Given the description of an element on the screen output the (x, y) to click on. 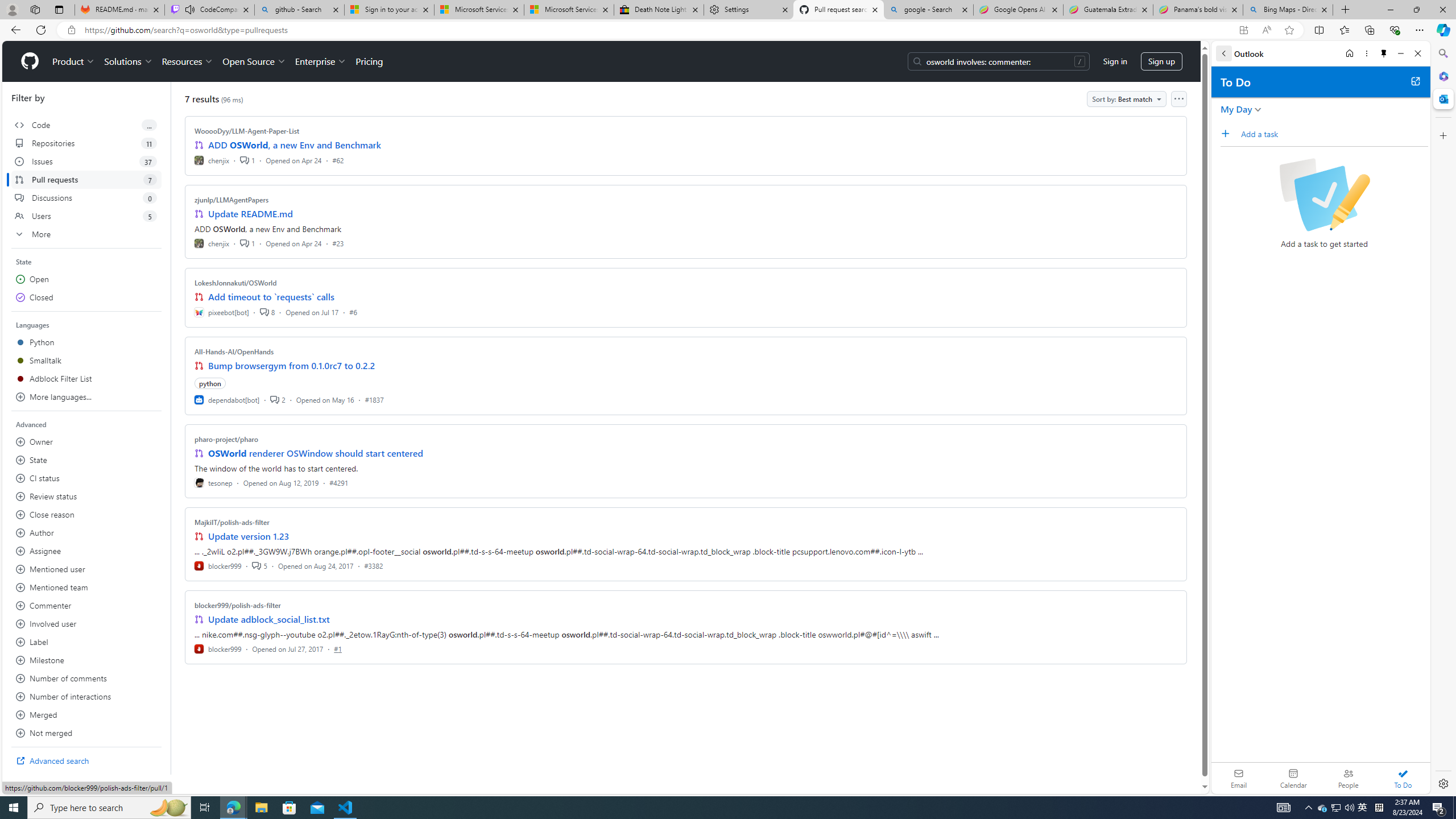
WooooDyy/LLM-Agent-Paper-List (247, 130)
#23 (337, 242)
chenjix (211, 242)
tesonep (213, 482)
Enterprise (319, 60)
Solutions (128, 60)
Open column options (1178, 98)
#4291 (338, 482)
